Given the description of an element on the screen output the (x, y) to click on. 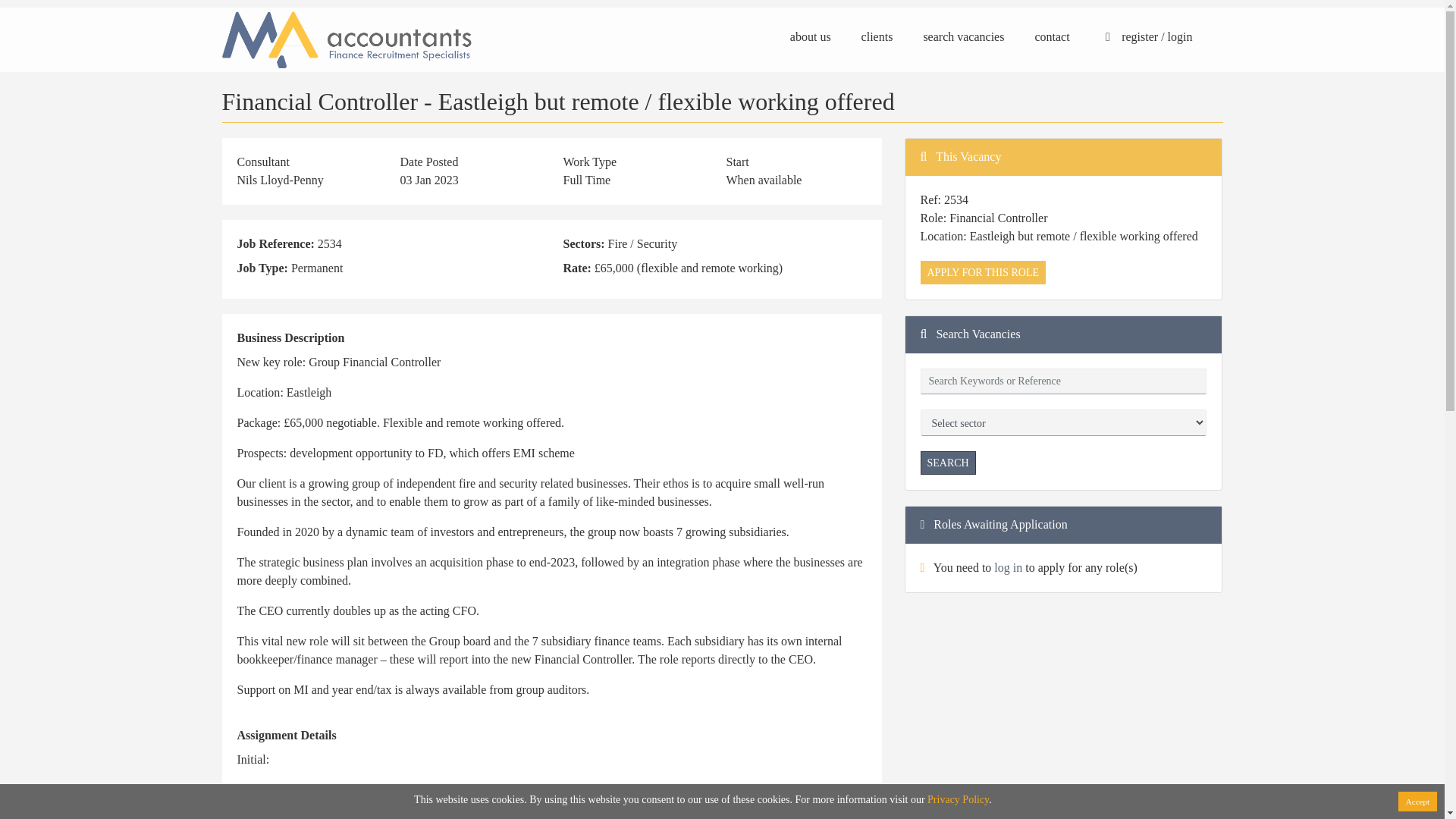
about us (810, 36)
clients (877, 36)
Post a Job (502, 669)
Contact Us (504, 687)
Privacy (240, 706)
Testimonials (508, 706)
Privacy Policy (957, 798)
Website Terms (257, 687)
Accept (1417, 801)
About Us (244, 669)
contact (1050, 36)
log in (1008, 567)
  0330 1333 728 (774, 669)
search vacancies (963, 36)
